Given the description of an element on the screen output the (x, y) to click on. 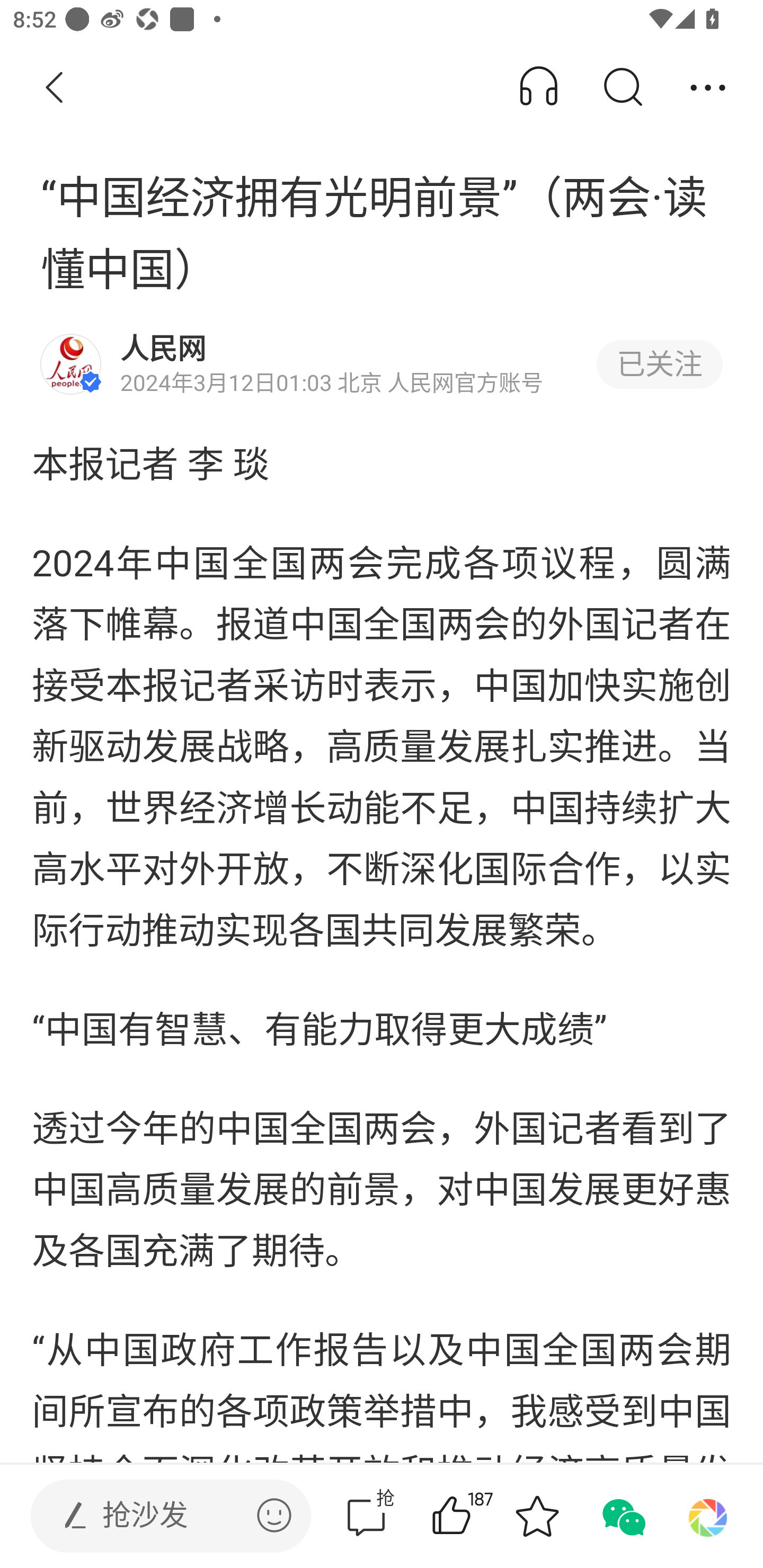
搜索  (622, 87)
分享  (707, 87)
 返回 (54, 87)
人民网 2024年3月12日01:03 北京 人民网官方账号 已关注 (381, 364)
已关注 (659, 364)
发表评论  抢沙发 发表评论  (155, 1516)
抢评论  抢 评论 (365, 1516)
187赞 (476, 1516)
收藏  (536, 1516)
分享到微信  (622, 1516)
分享到朋友圈 (707, 1516)
 (274, 1515)
